Given the description of an element on the screen output the (x, y) to click on. 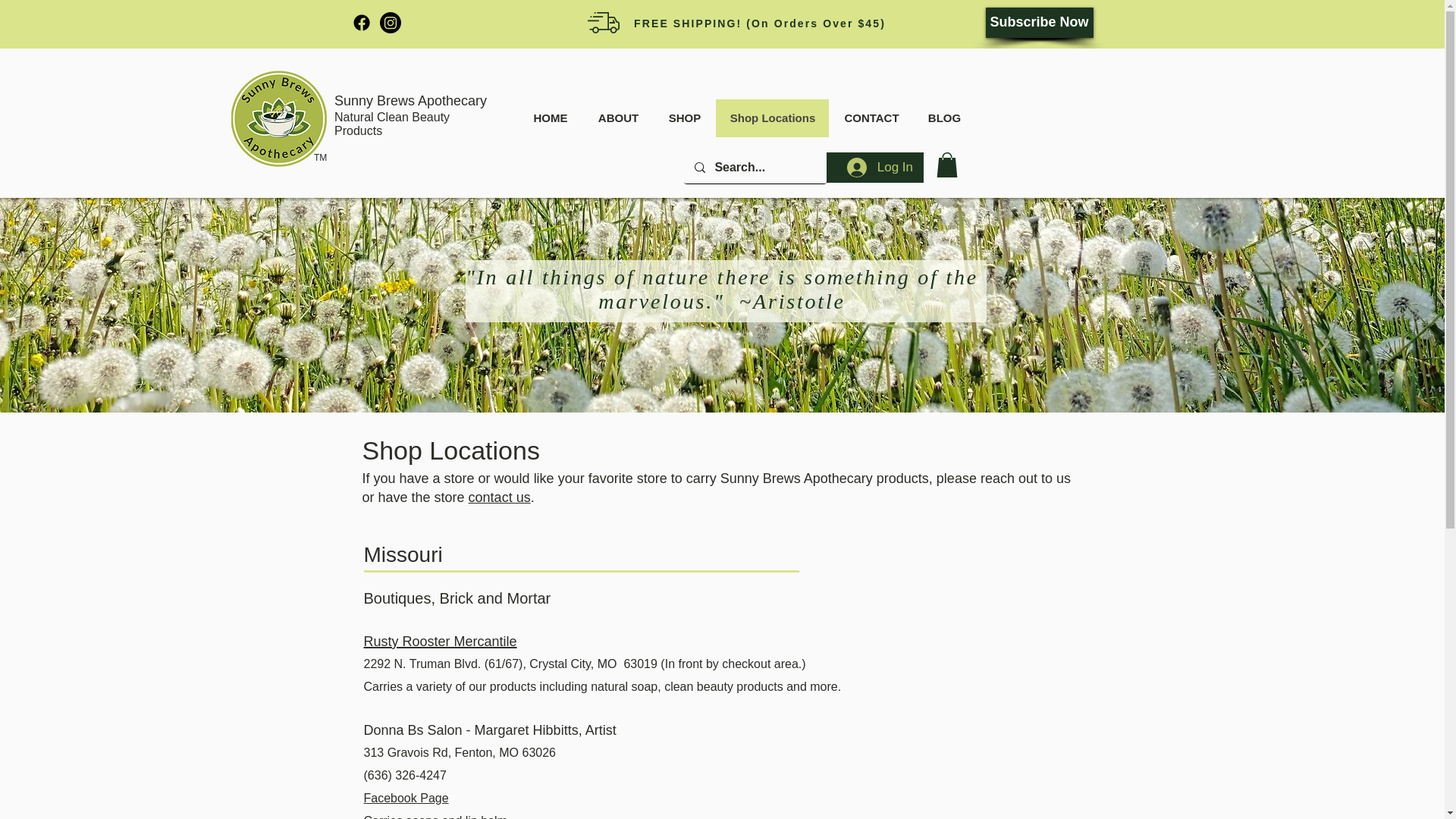
BLOG (944, 118)
ABOUT (617, 118)
Subscribe Now (1039, 22)
SHOP (684, 118)
HOME (550, 118)
Log In (879, 167)
Shop Locations (772, 118)
Facebook Page (406, 797)
Rusty Rooster Mercantile (440, 640)
CONTACT (871, 118)
contact us (499, 497)
